Given the description of an element on the screen output the (x, y) to click on. 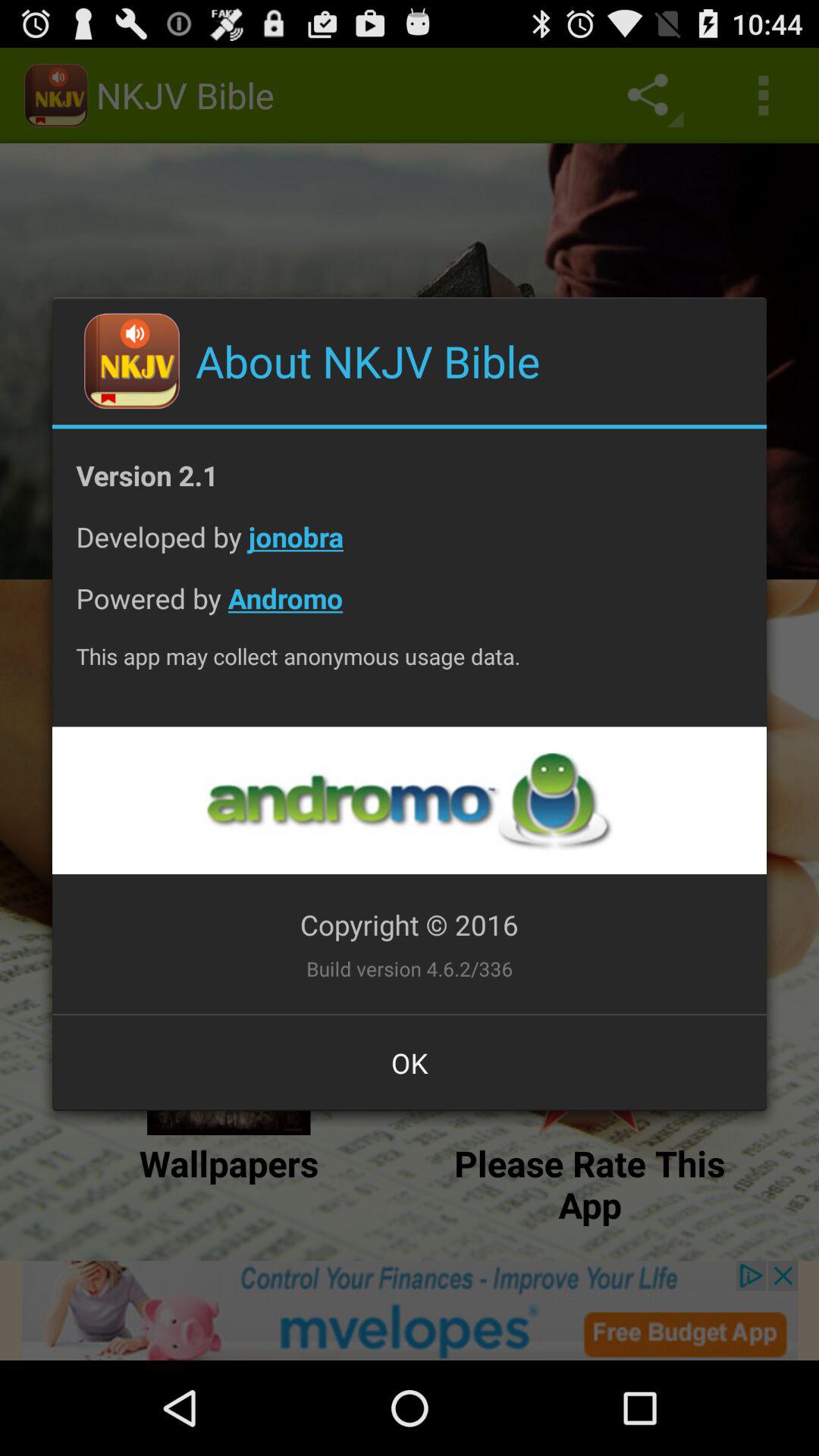
turn on the ok at the bottom (409, 1062)
